Given the description of an element on the screen output the (x, y) to click on. 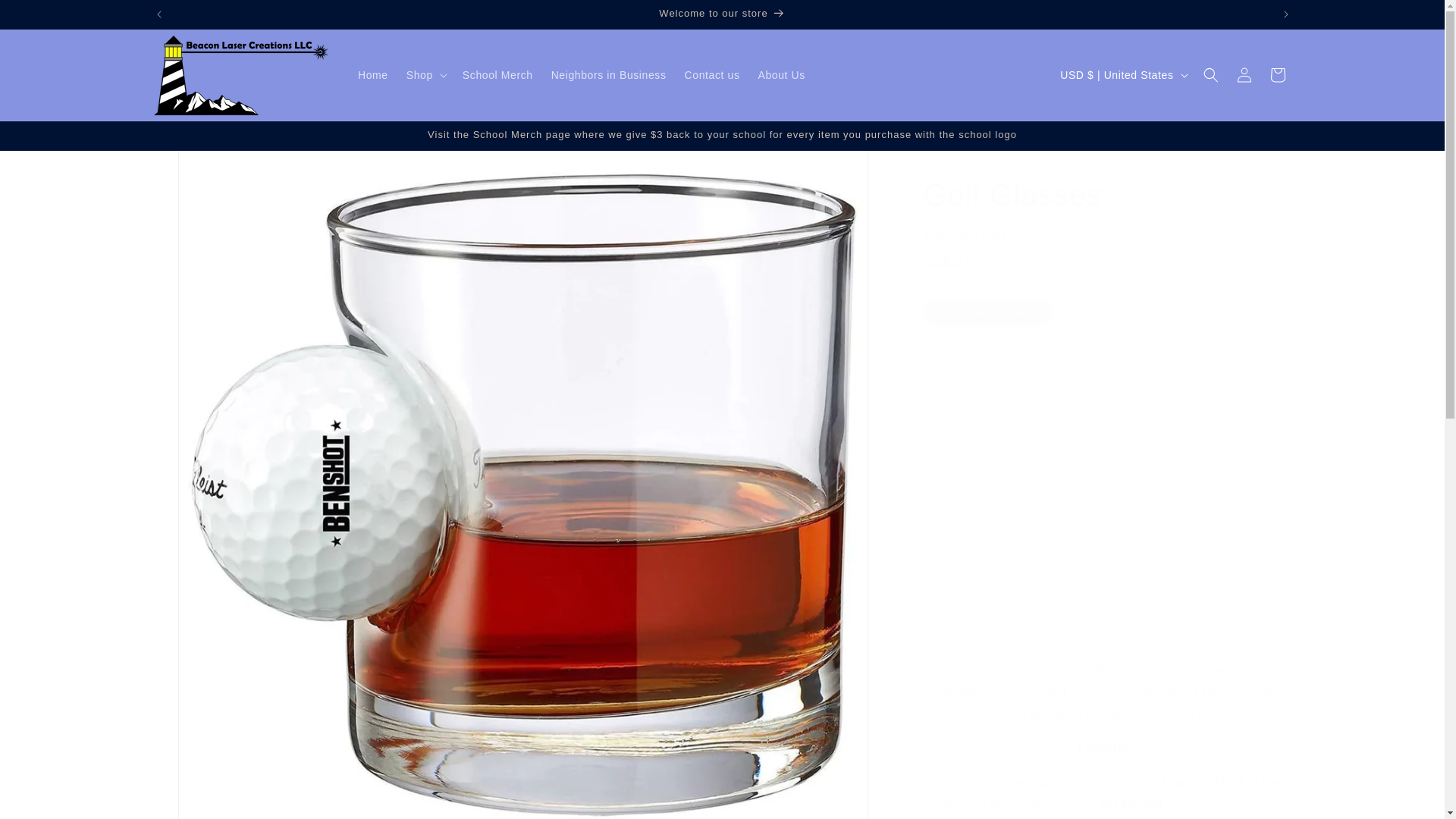
1 (976, 444)
Home (373, 74)
Welcome to our store (722, 14)
Skip to content (45, 17)
